Given the description of an element on the screen output the (x, y) to click on. 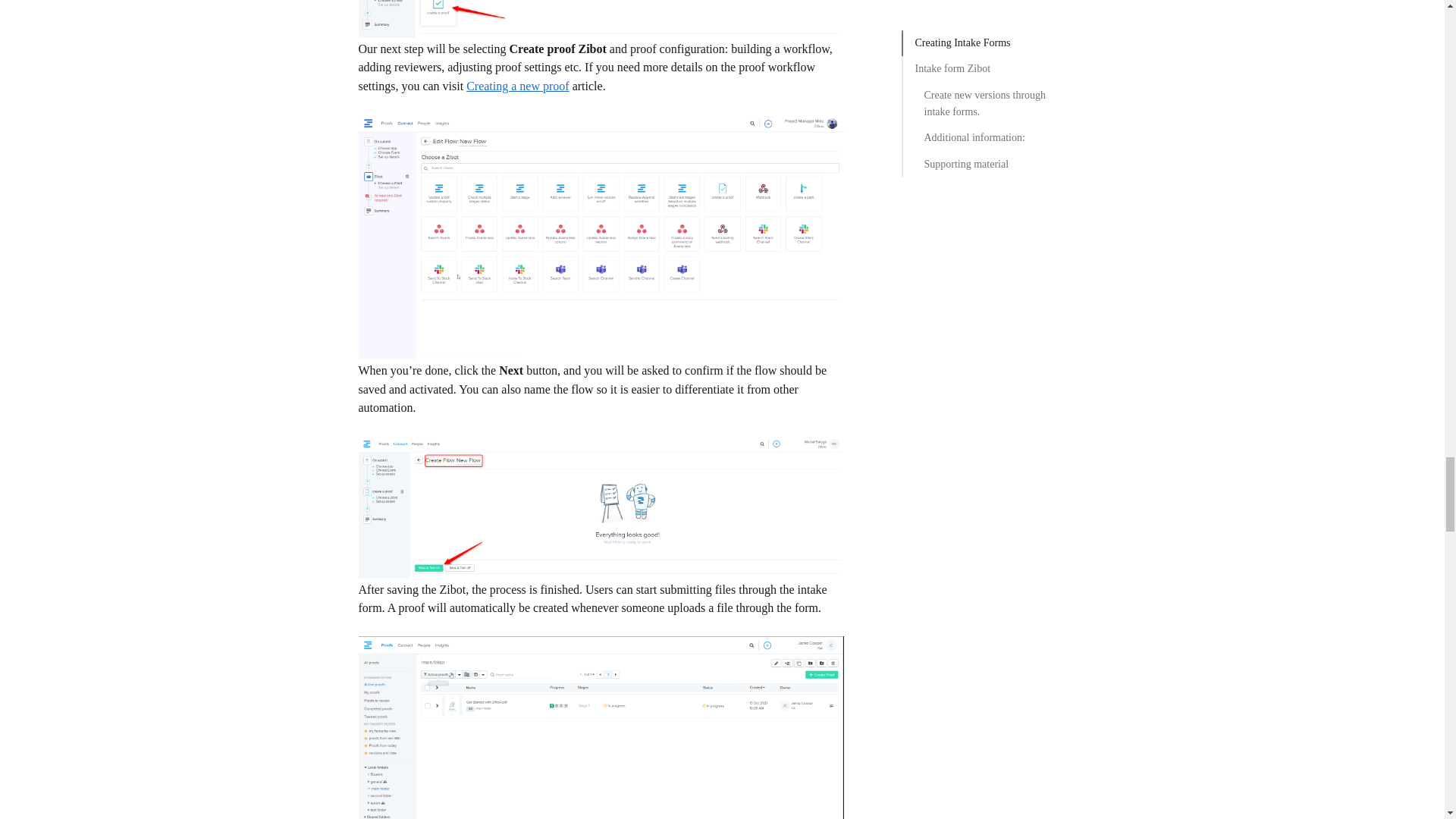
Creating a new proof (517, 85)
